Given the description of an element on the screen output the (x, y) to click on. 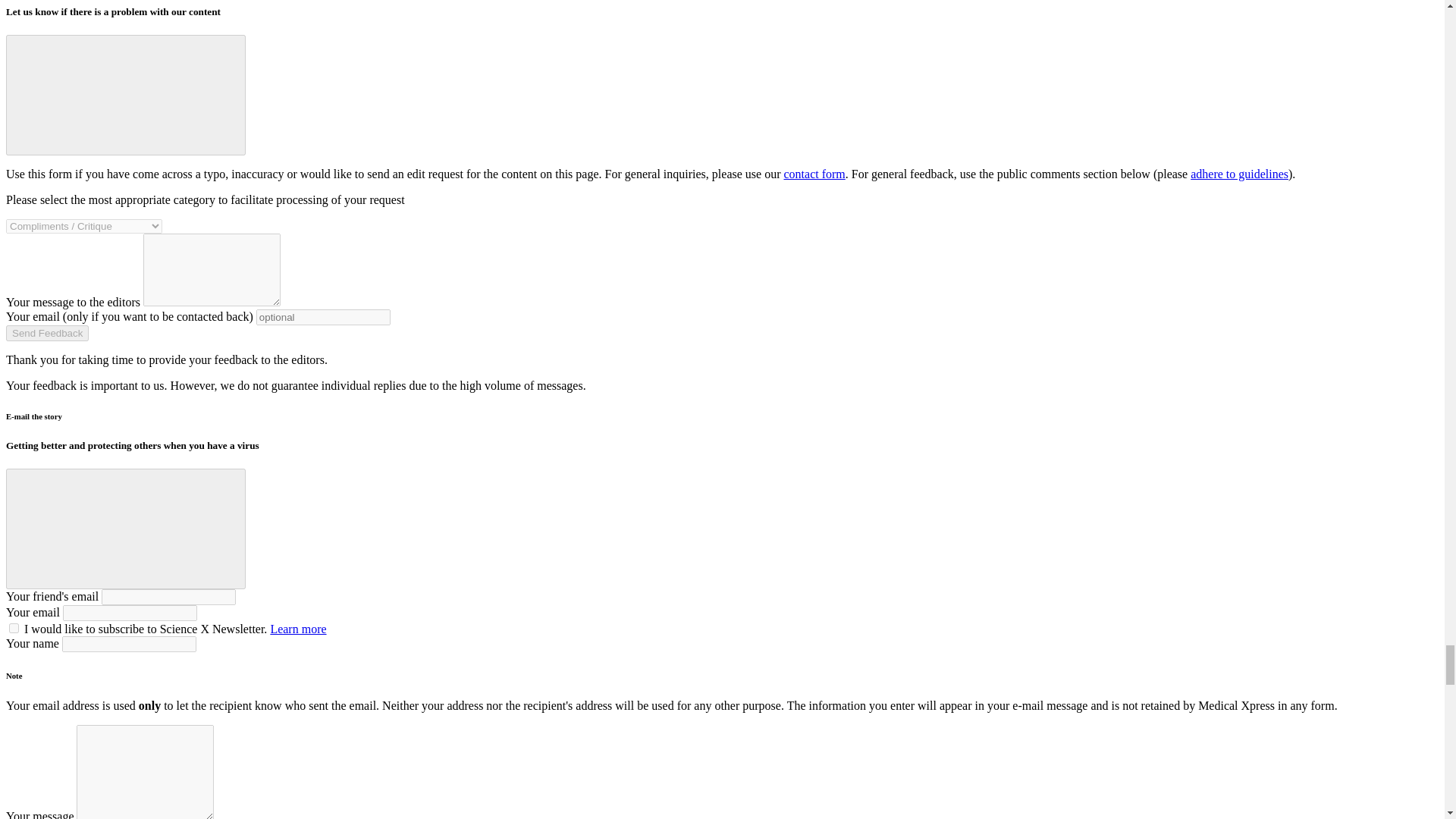
1 (13, 628)
